Given the description of an element on the screen output the (x, y) to click on. 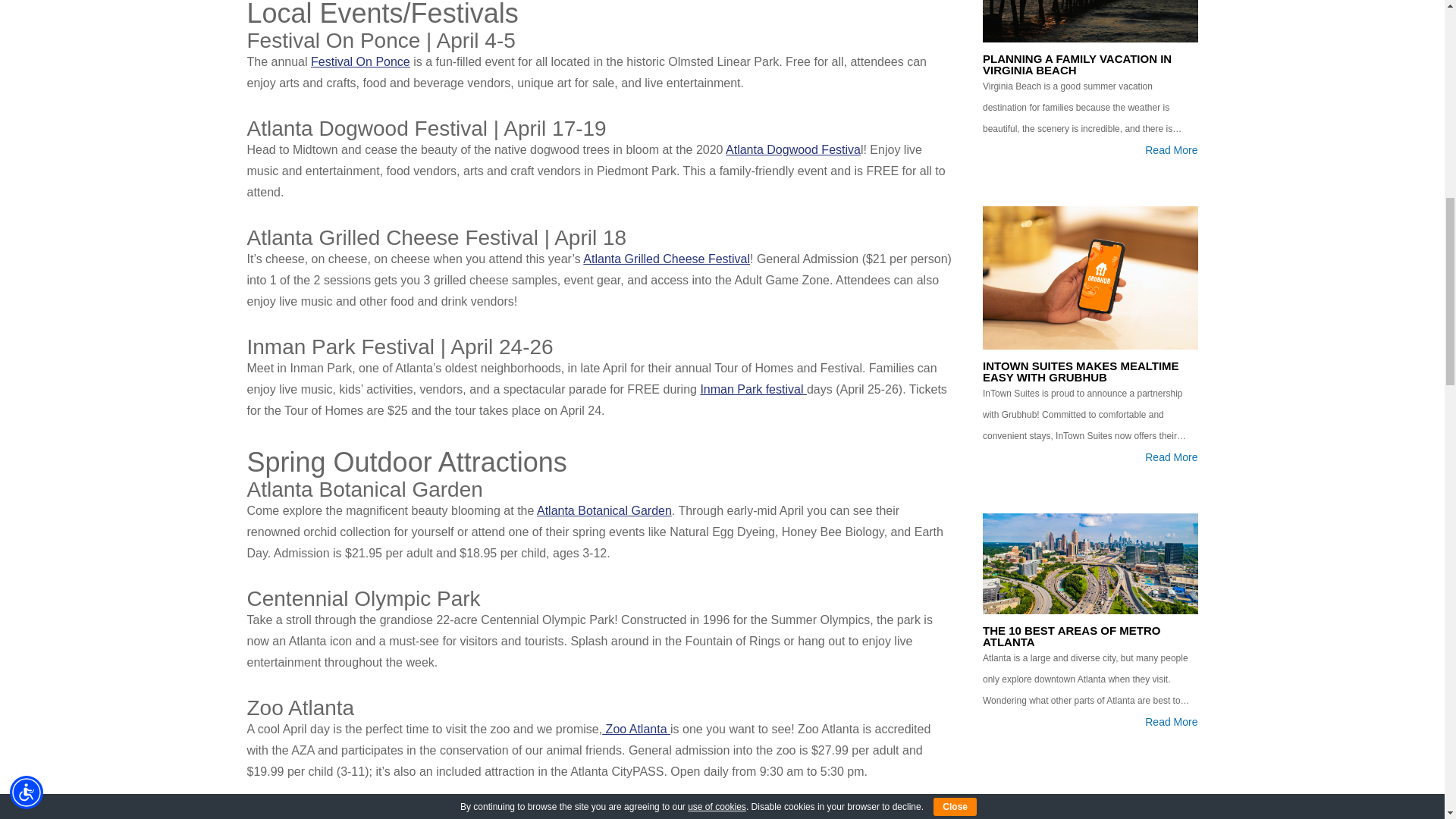
Atlanta Grilled Cheese Festival (666, 258)
Atlanta Dogwood Festiva (792, 149)
Inman Park festival (753, 389)
Festival On Ponce (360, 61)
Atlanta Botanical Garden (604, 510)
Zoo Atlanta (635, 728)
